Given the description of an element on the screen output the (x, y) to click on. 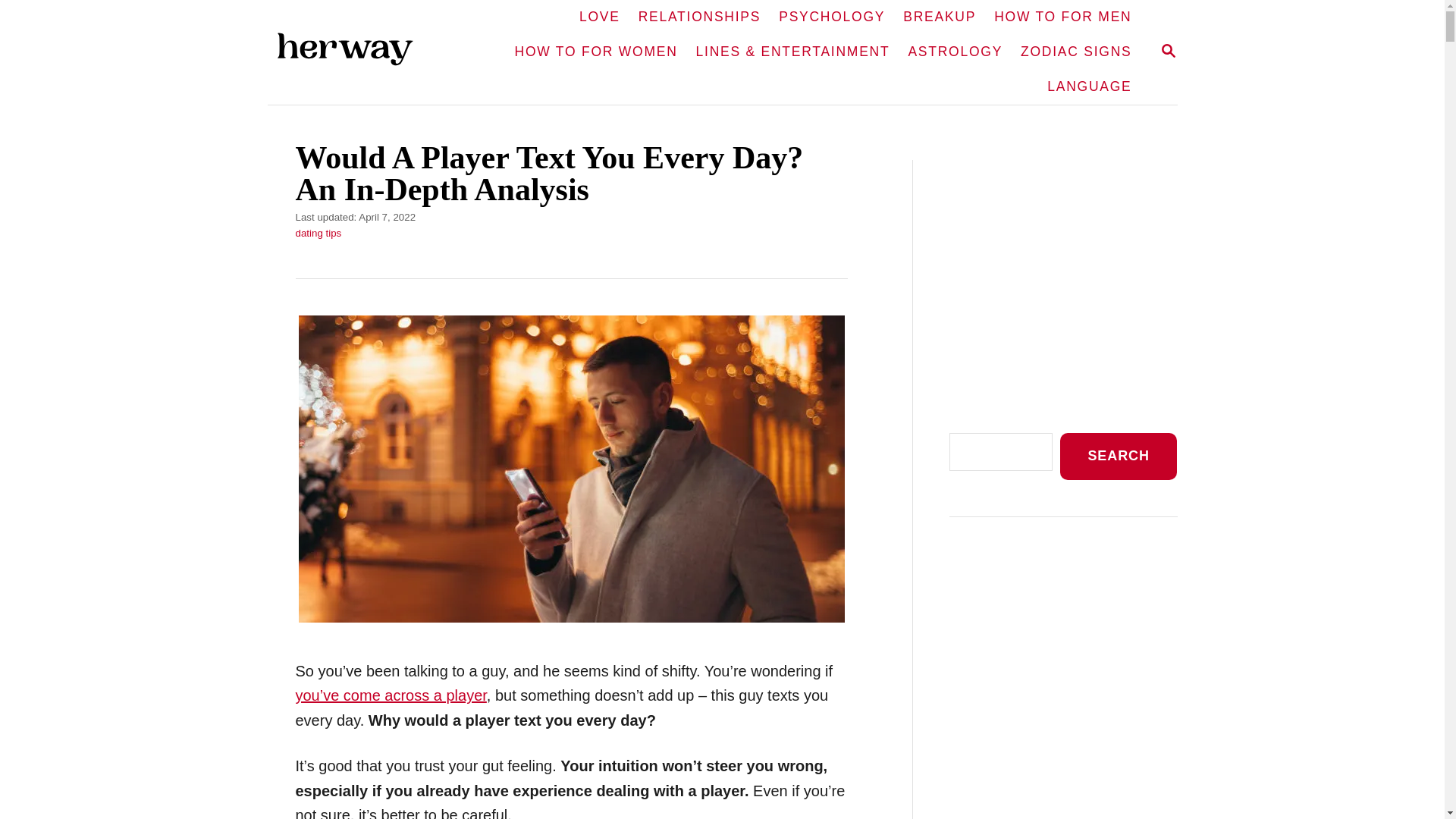
HOW TO FOR MEN (1062, 17)
MAGNIFYING GLASS (1167, 50)
LOVE (599, 17)
HOW TO FOR WOMEN (596, 52)
PSYCHOLOGY (831, 17)
Her Way (1167, 51)
RELATIONSHIPS (355, 52)
BREAKUP (699, 17)
